Given the description of an element on the screen output the (x, y) to click on. 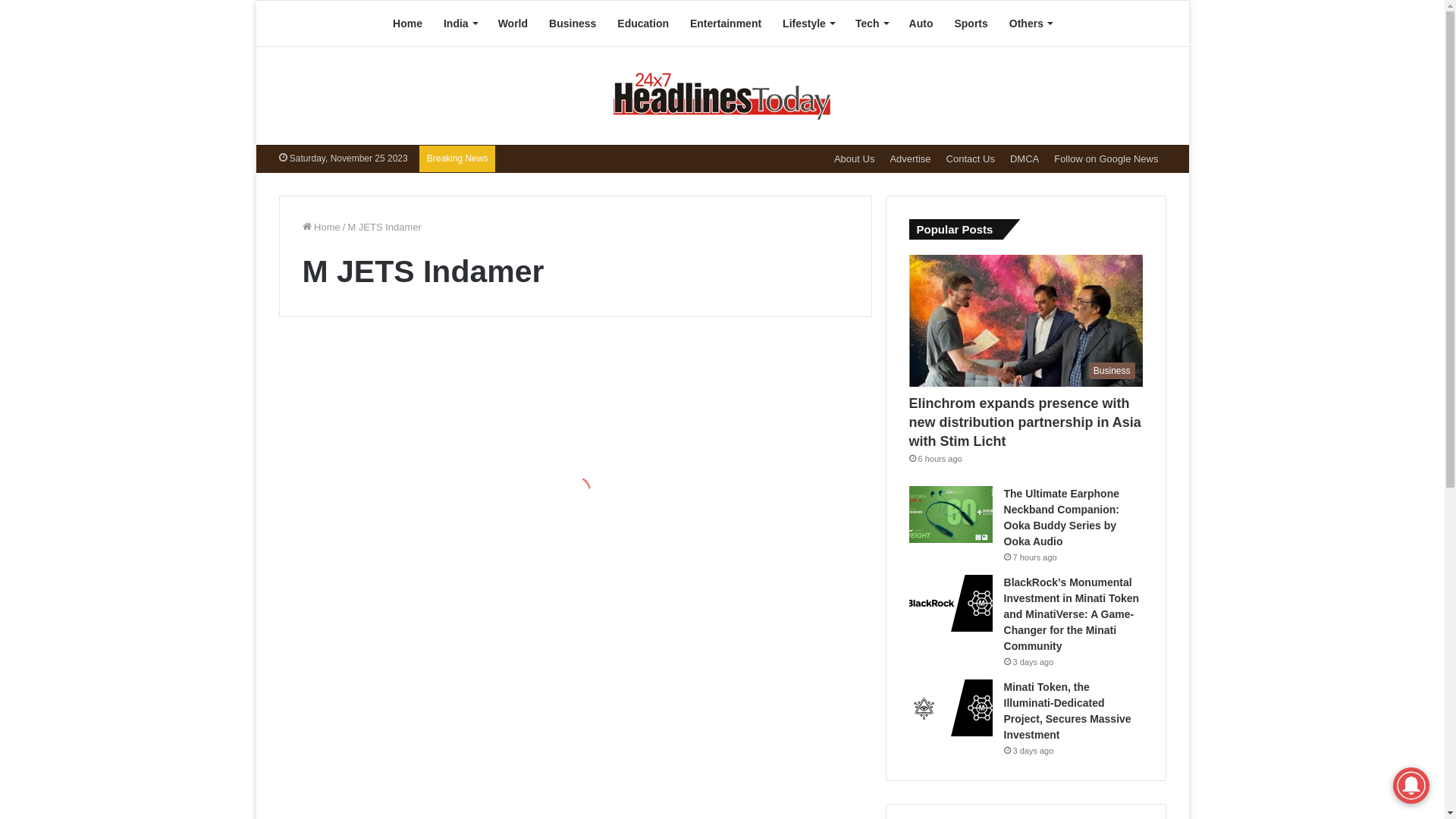
Education Element type: text (642, 23)
Advertise Element type: text (909, 158)
Business Element type: text (572, 23)
About Us Element type: text (853, 158)
Contact Us Element type: text (970, 158)
Others Element type: text (1030, 23)
Follow on Google News Element type: text (1105, 158)
Entertainment Element type: text (725, 23)
DMCA Element type: text (1024, 158)
Tech Element type: text (871, 23)
Lifestyle Element type: text (807, 23)
Sports Element type: text (970, 23)
India Element type: text (460, 23)
World Element type: text (512, 23)
Home Element type: text (320, 226)
24x7 Headlines Today Element type: hover (721, 95)
Auto Element type: text (921, 23)
Business Element type: text (1025, 320)
Home Element type: text (407, 23)
